Given the description of an element on the screen output the (x, y) to click on. 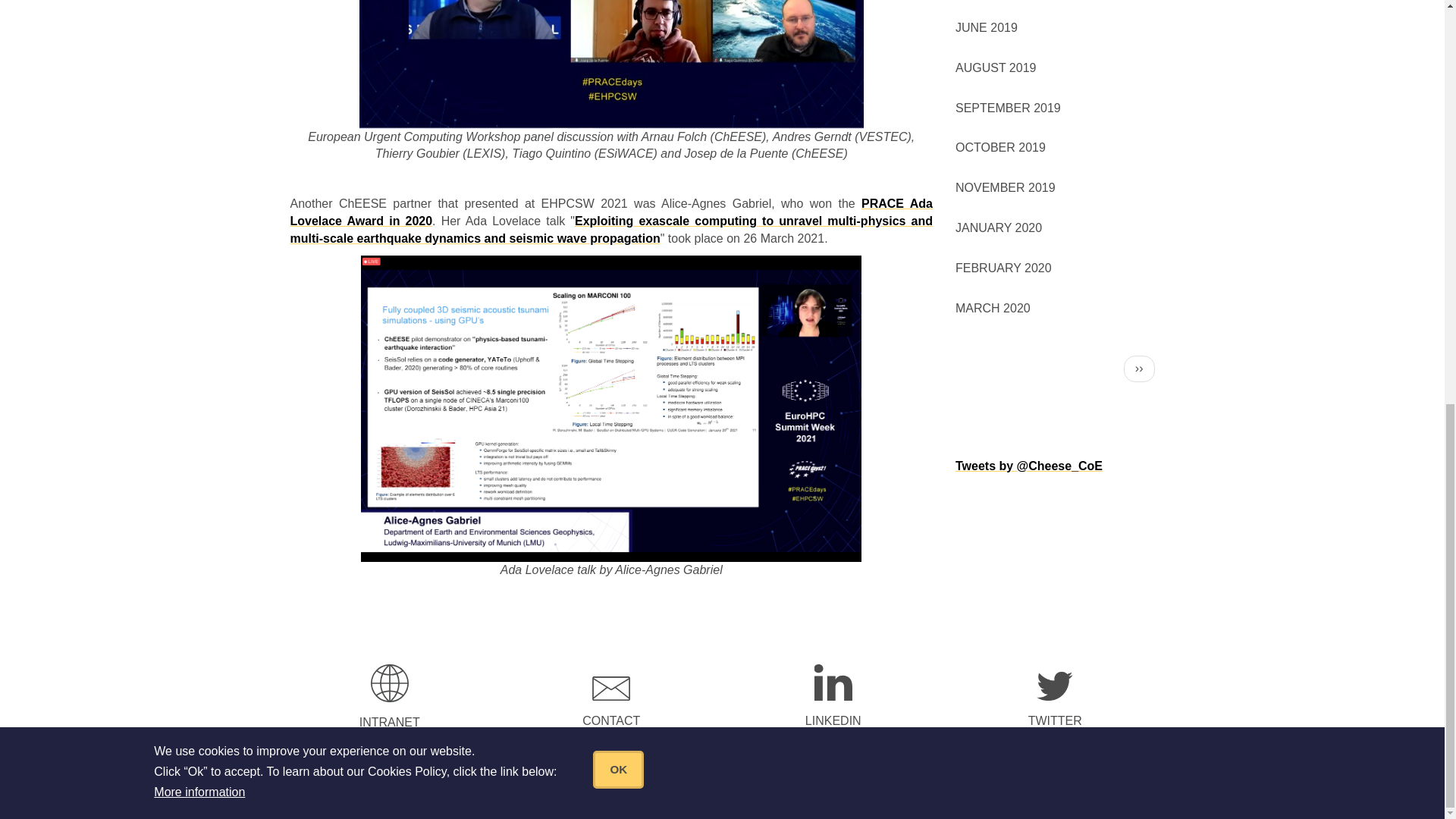
Go to next page (1139, 368)
